Given the description of an element on the screen output the (x, y) to click on. 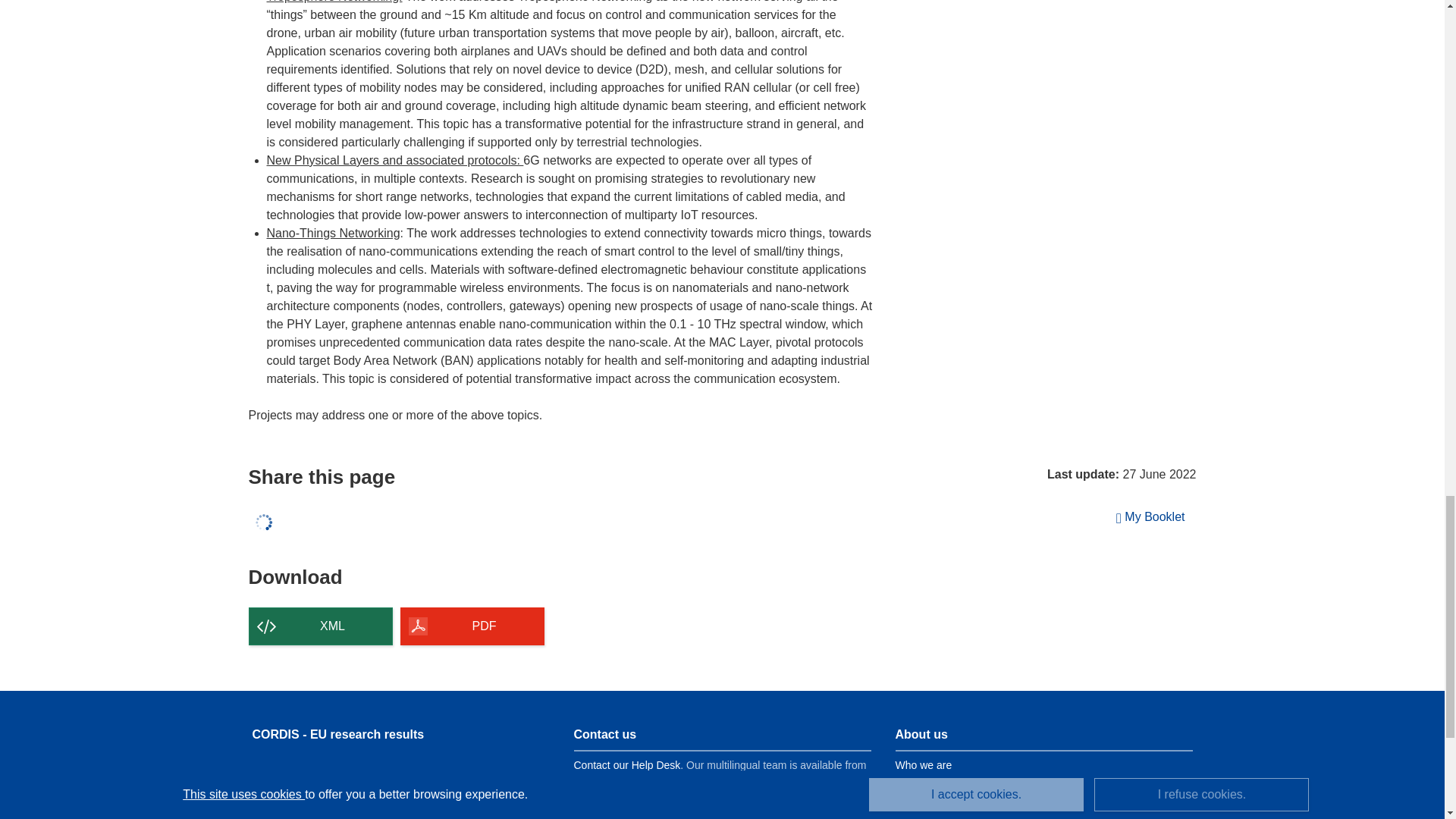
PDF (472, 626)
My Booklet (1150, 517)
Contact our Help Desk (626, 765)
XML (320, 626)
Publication Office of the European Union (383, 782)
